Given the description of an element on the screen output the (x, y) to click on. 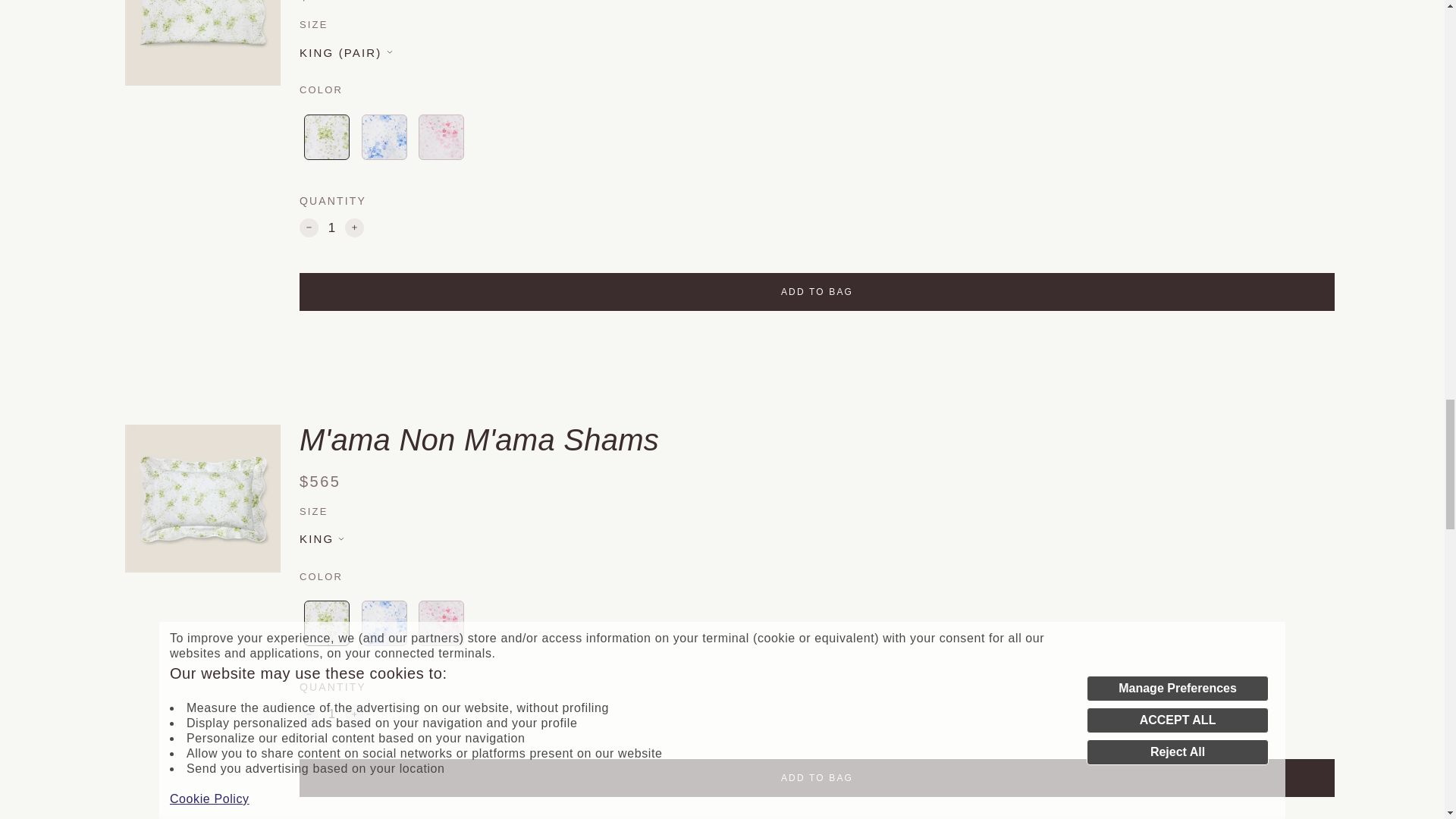
1 (331, 227)
1 (331, 713)
